Given the description of an element on the screen output the (x, y) to click on. 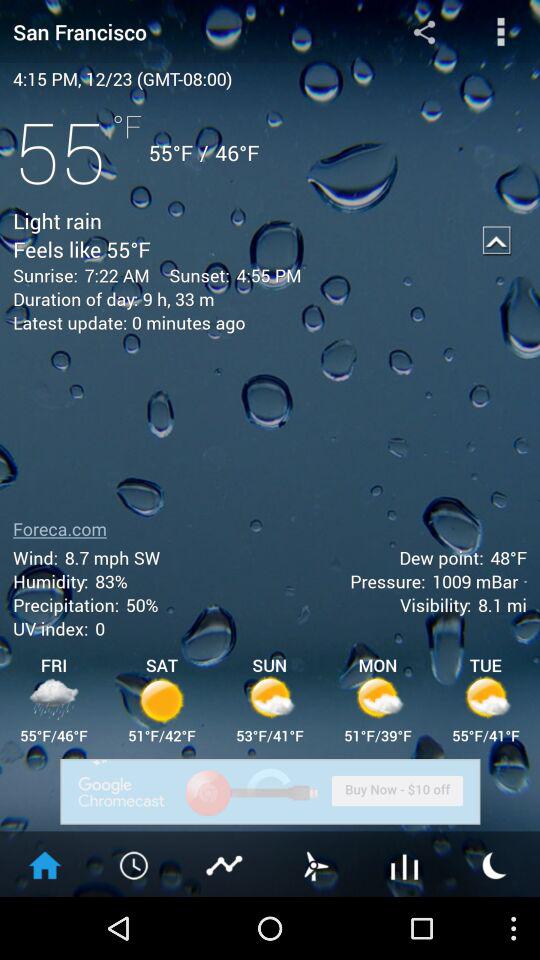
press icon to the right of the 4:55 pm item (496, 240)
